Given the description of an element on the screen output the (x, y) to click on. 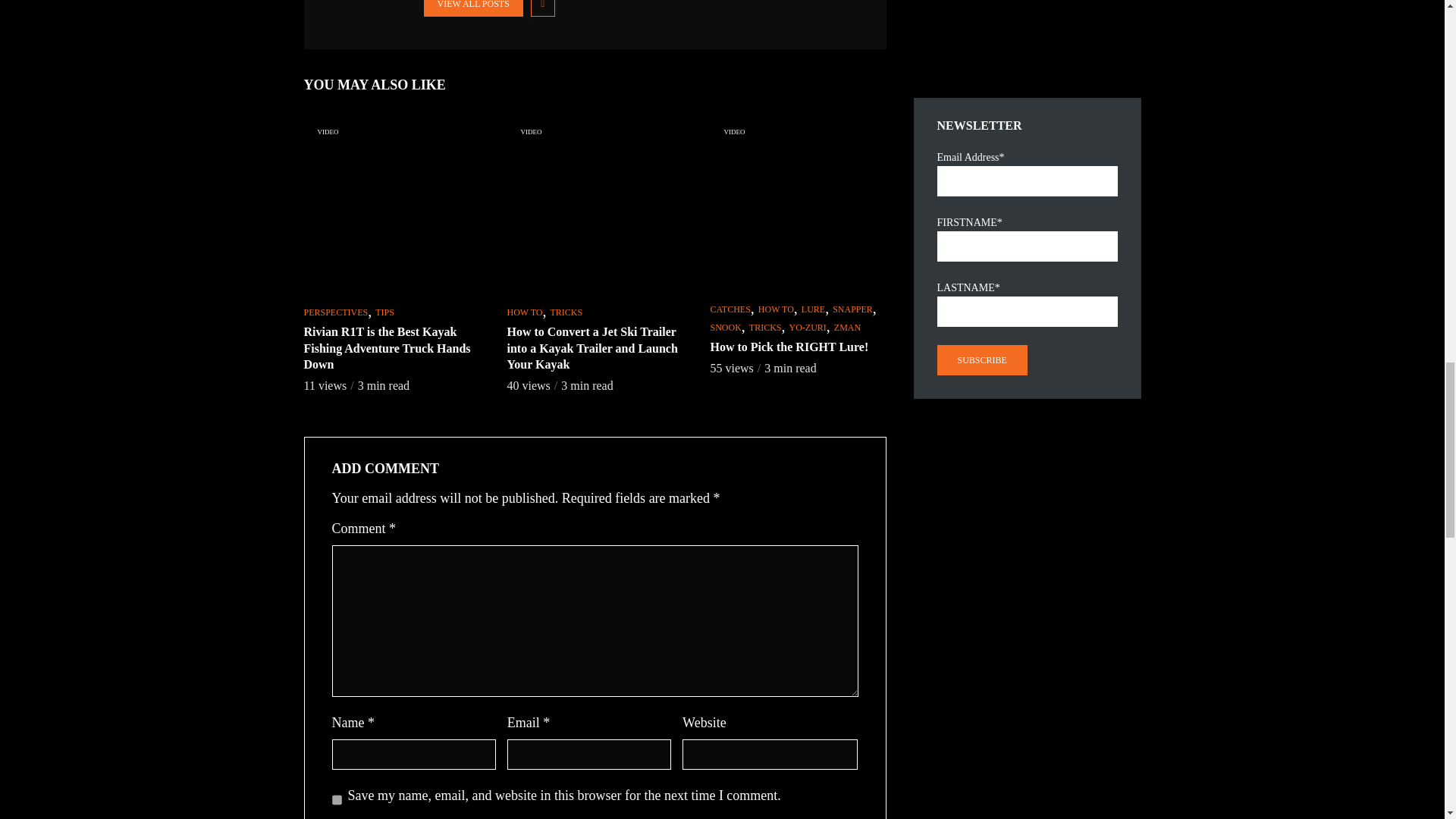
yes (336, 800)
How to Pick the RIGHT Lure! (797, 203)
Subscribe (982, 359)
